Given the description of an element on the screen output the (x, y) to click on. 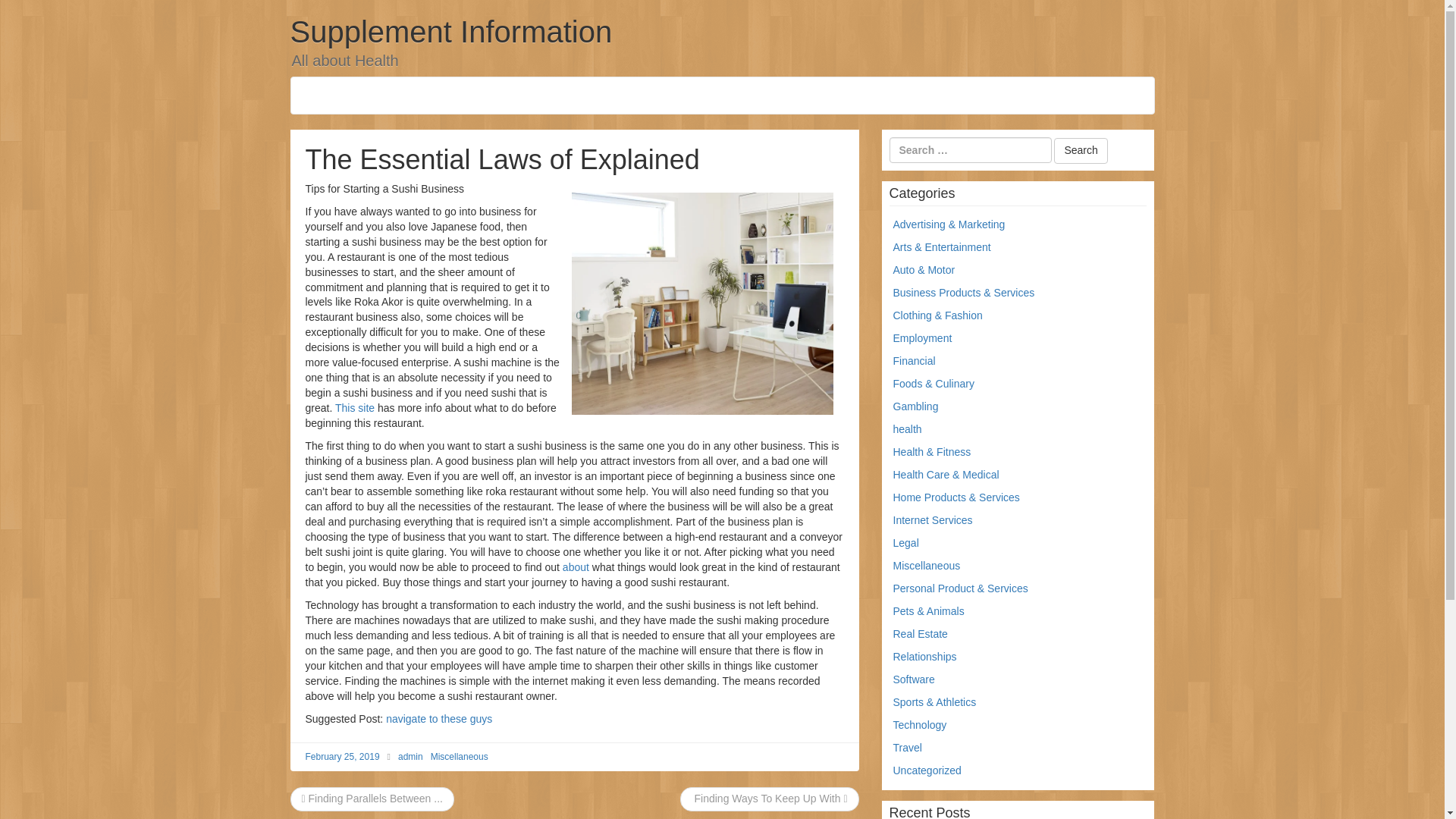
Uncategorized (926, 770)
Miscellaneous (926, 565)
Search (1080, 150)
Software (913, 679)
Supplement Information (450, 31)
Legal (905, 542)
admin (410, 756)
Travel (907, 747)
Financial (914, 360)
Search for: (969, 149)
